Given the description of an element on the screen output the (x, y) to click on. 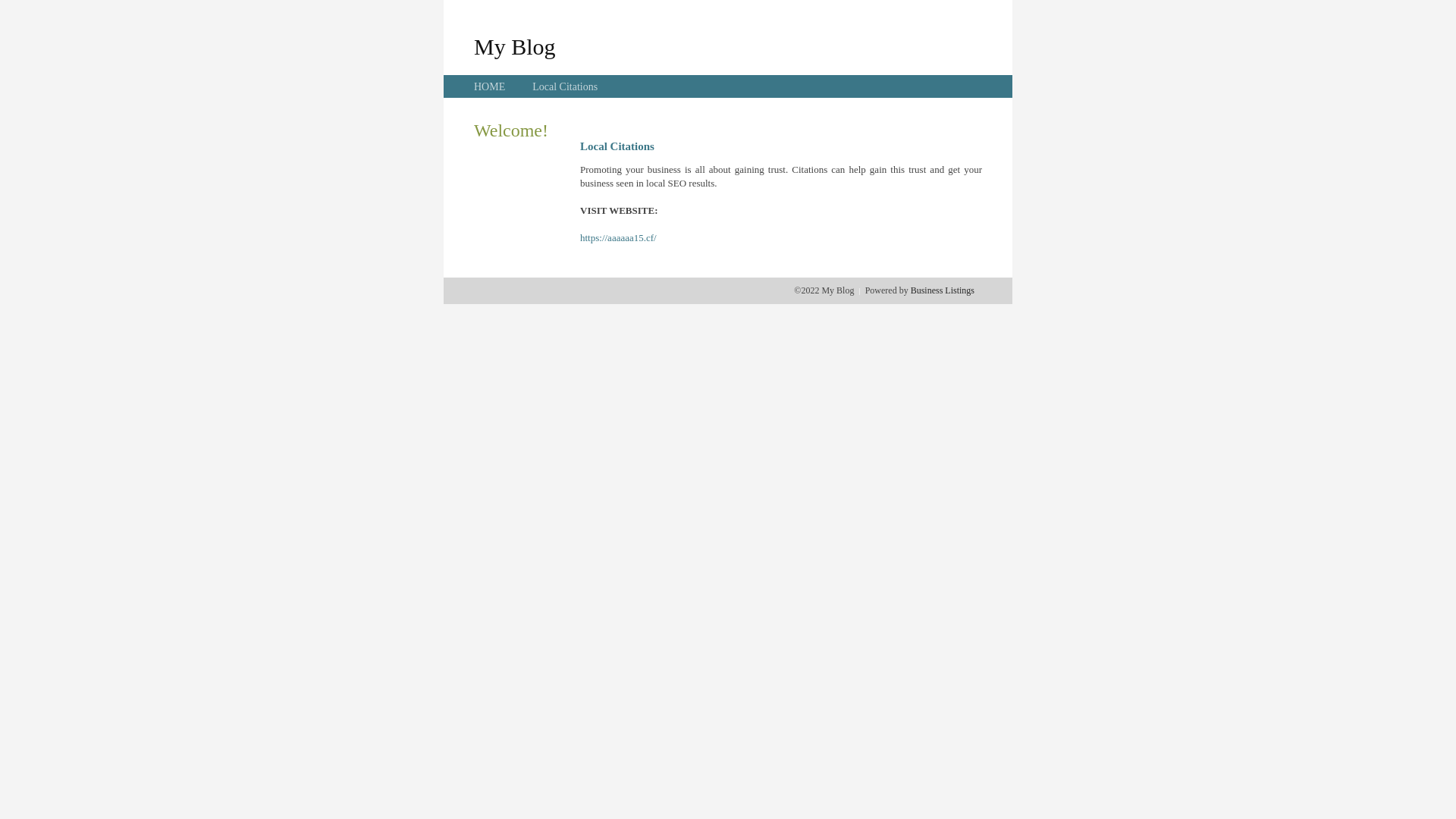
HOME Element type: text (489, 86)
Business Listings Element type: text (942, 290)
Local Citations Element type: text (564, 86)
My Blog Element type: text (514, 46)
https://aaaaaa15.cf/ Element type: text (618, 237)
